Given the description of an element on the screen output the (x, y) to click on. 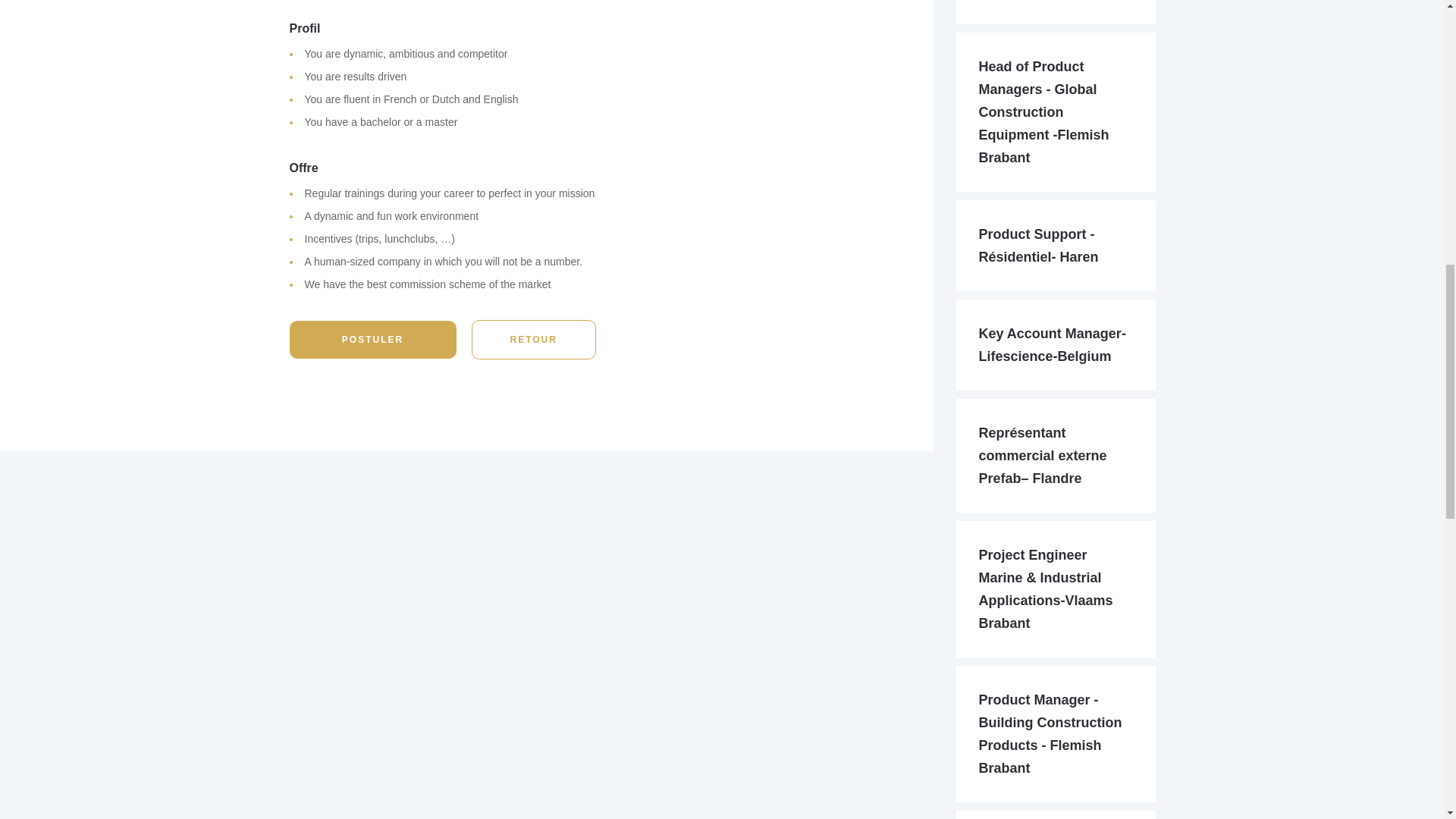
Key Account Manager-Lifescience-Belgium (1051, 344)
Postuler (373, 339)
Retour (533, 339)
